Given the description of an element on the screen output the (x, y) to click on. 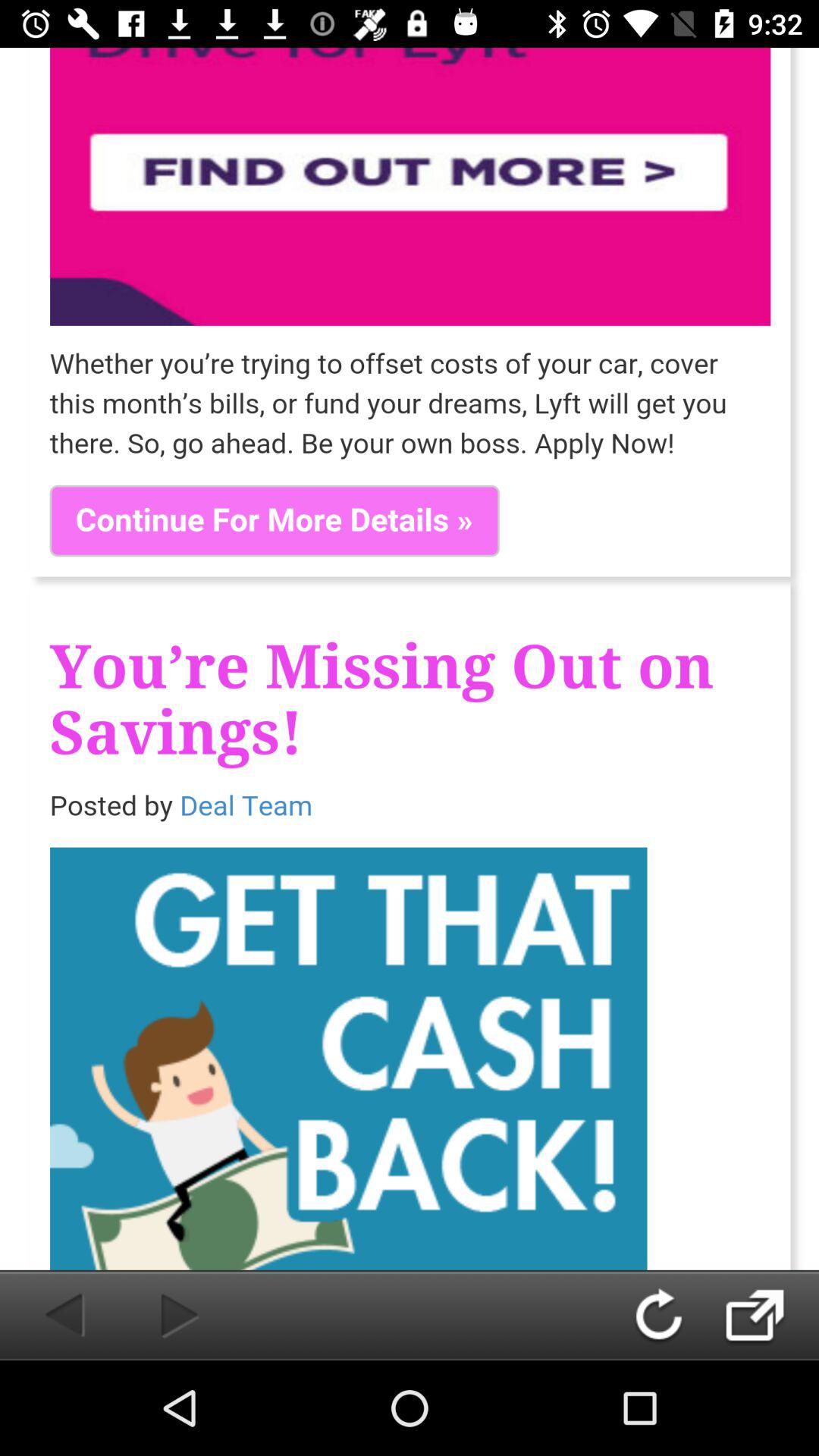
share the article (770, 1315)
